Given the description of an element on the screen output the (x, y) to click on. 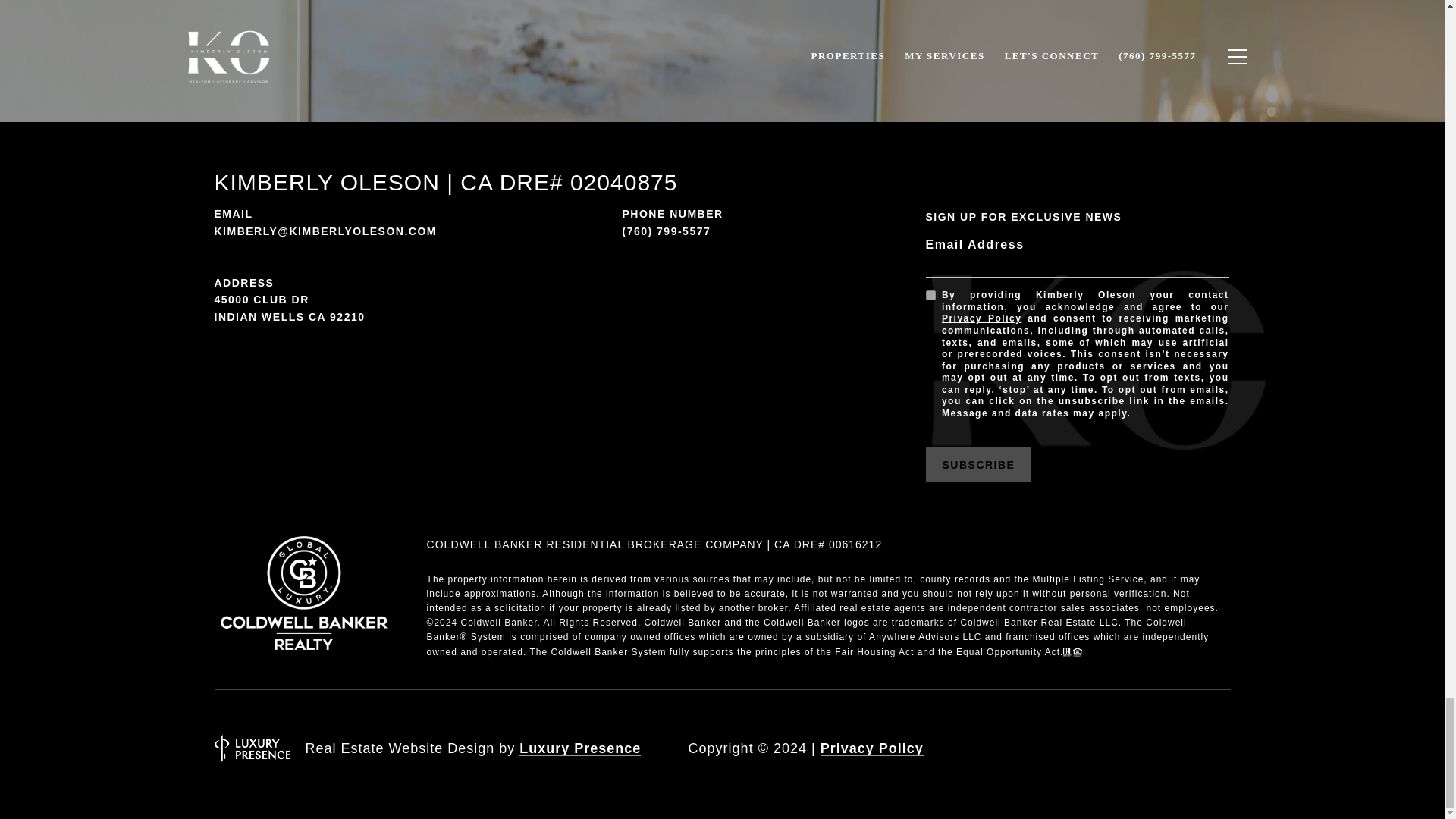
on (929, 295)
